Given the description of an element on the screen output the (x, y) to click on. 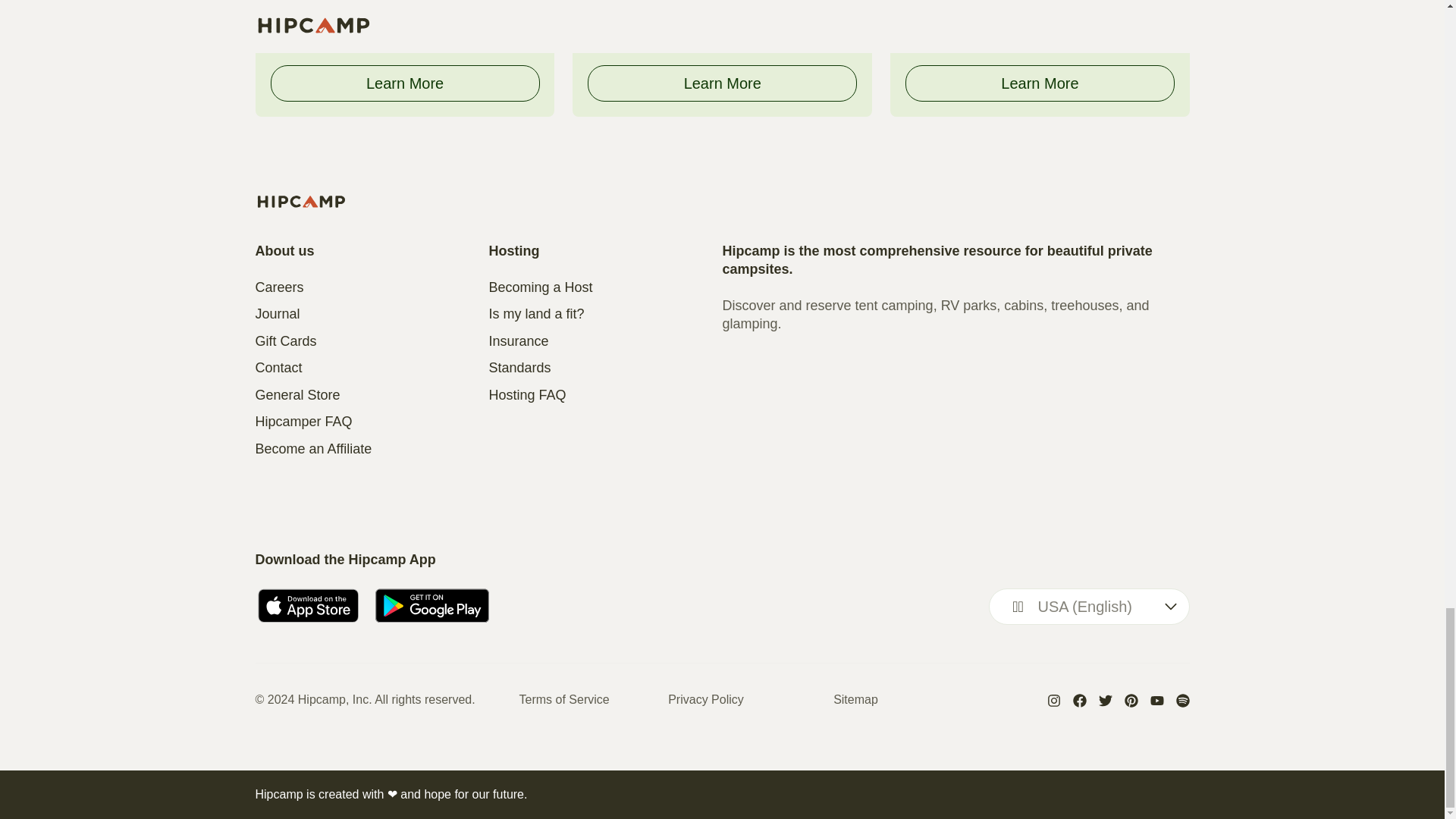
Journal (370, 314)
Careers (370, 288)
